Given the description of an element on the screen output the (x, y) to click on. 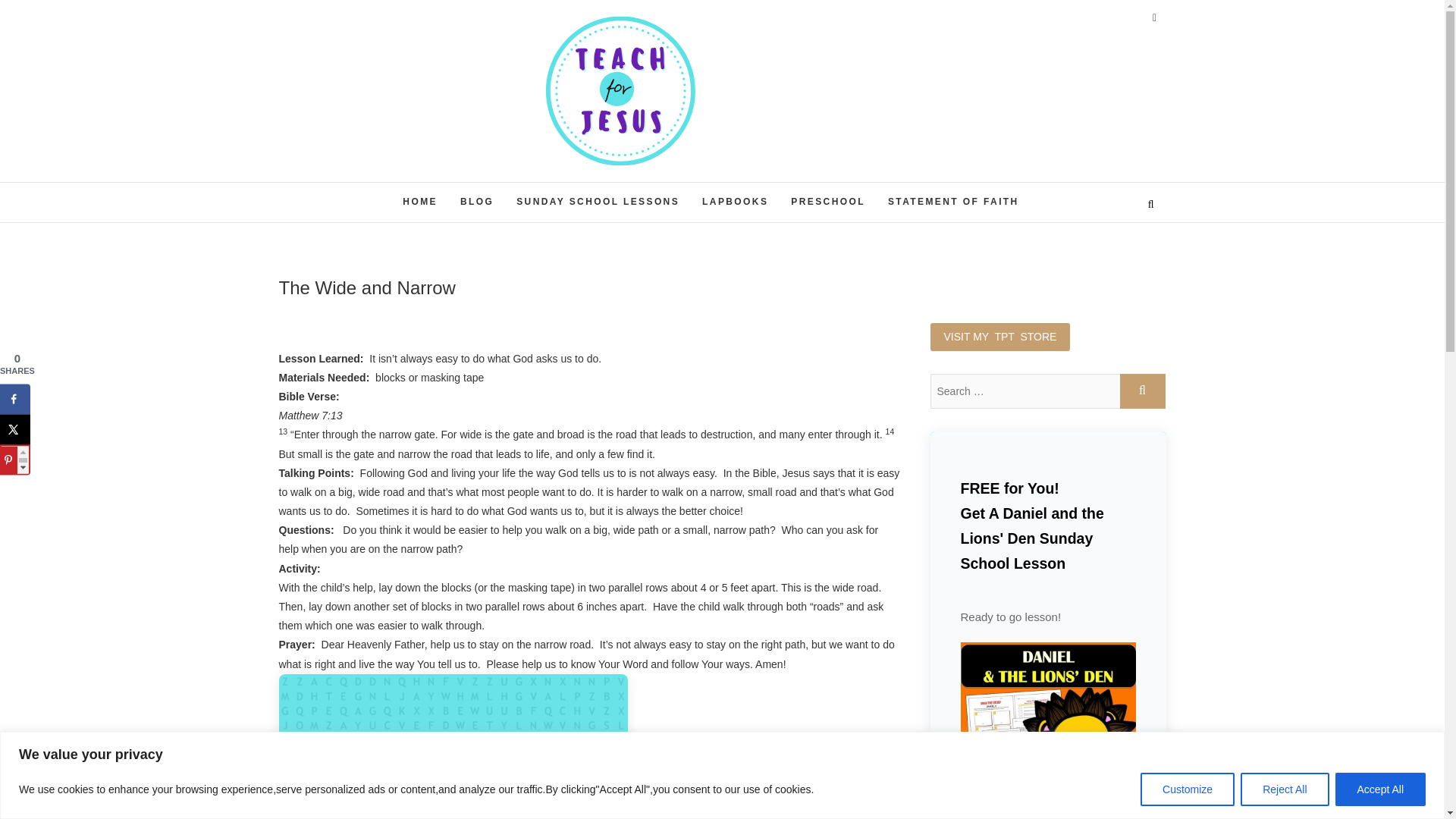
SUNDAY SCHOOL LESSONS (597, 201)
Visit My  TpT  Store (1000, 336)
Teach for Jesus (650, 185)
Save to Pinterest (15, 459)
STATEMENT OF FAITH (953, 201)
Share on X (15, 429)
HOME (419, 201)
Visit My  TpT  Store (1000, 336)
PRESCHOOL (827, 201)
Share on Facebook (15, 399)
